Given the description of an element on the screen output the (x, y) to click on. 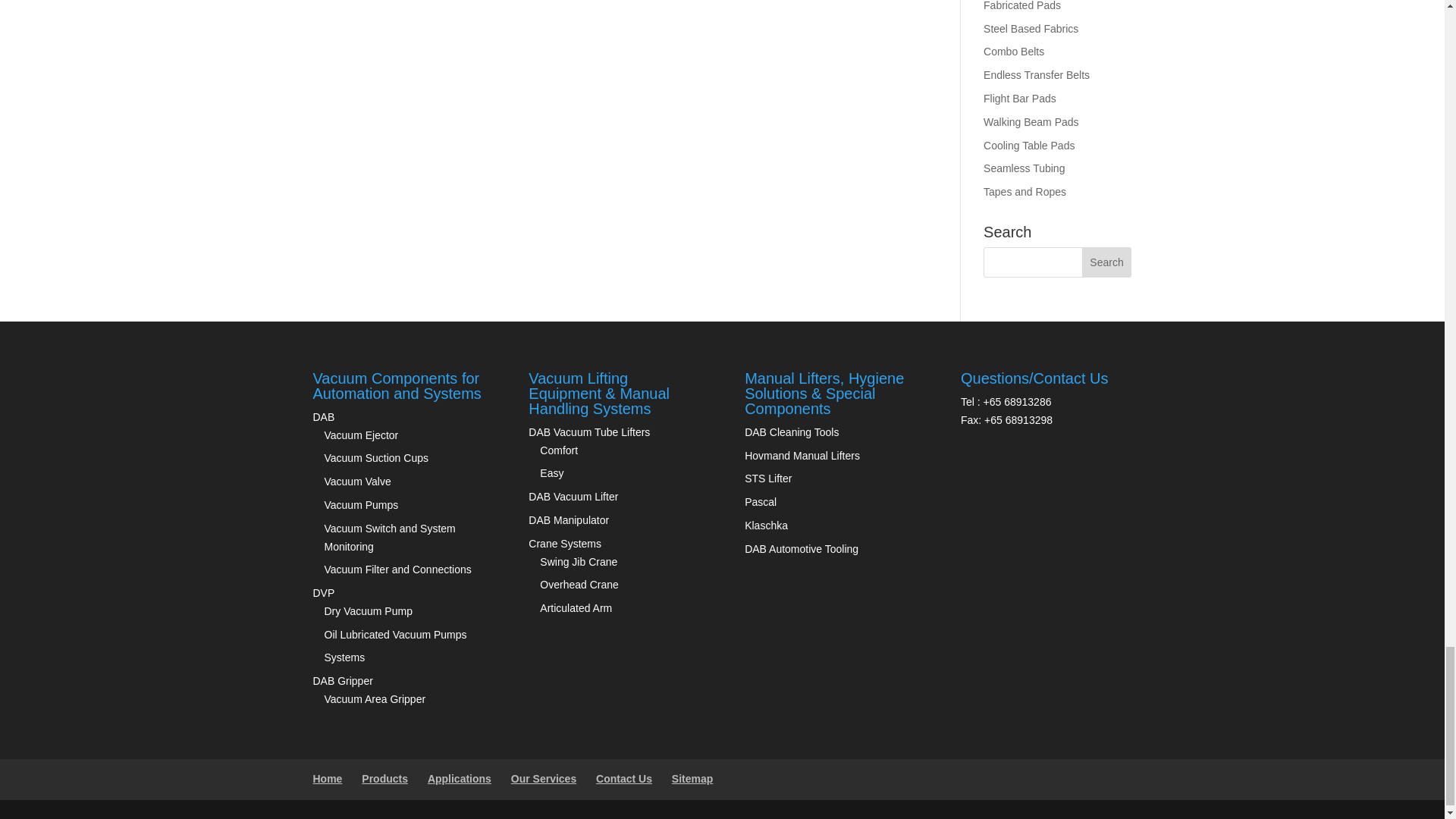
Search (1106, 262)
